Given the description of an element on the screen output the (x, y) to click on. 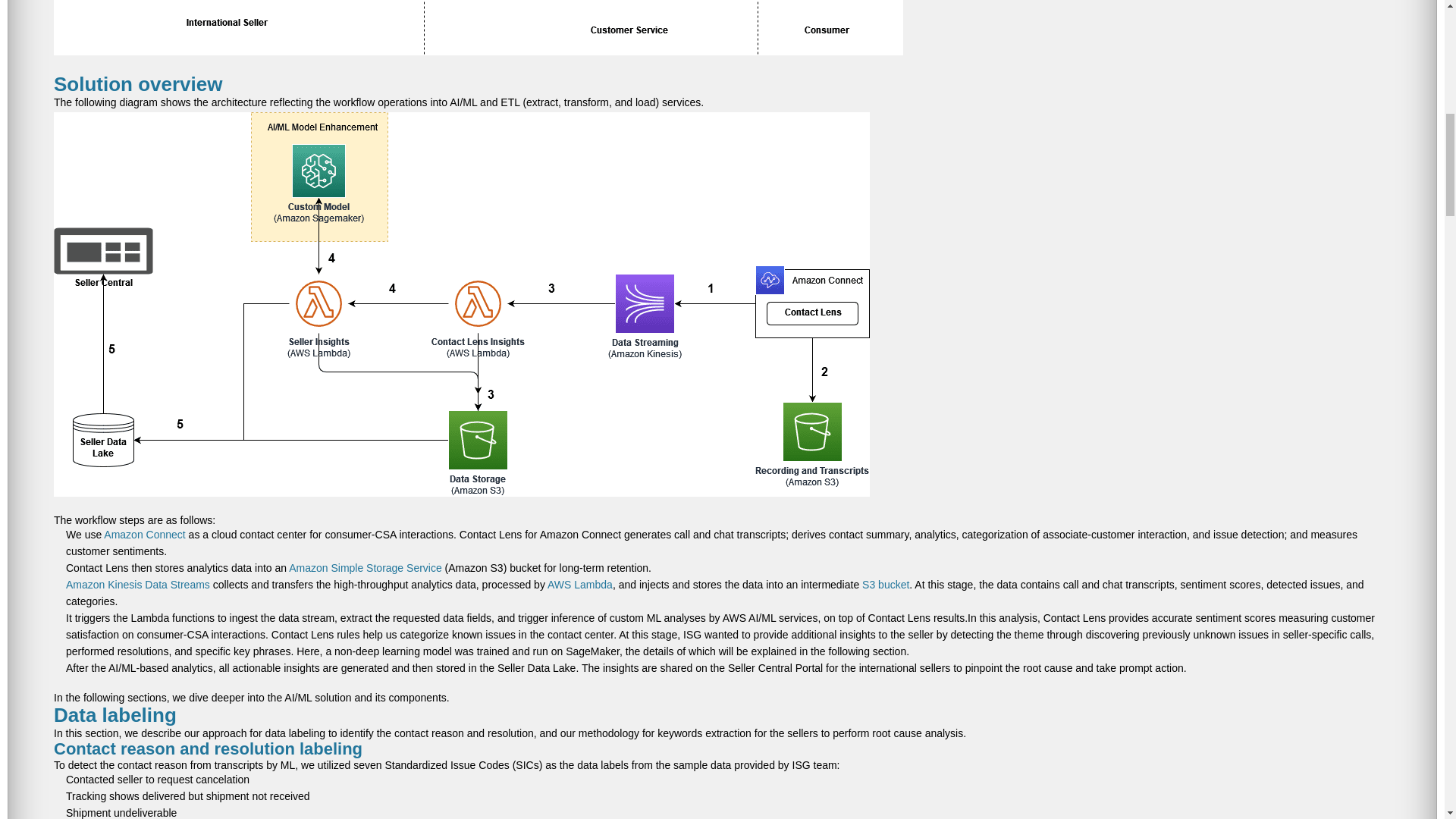
Amazon Kinesis Data Streams (137, 584)
Amazon Connect (143, 534)
AWS Lambda (579, 584)
S3 bucket (884, 584)
Amazon Simple Storage Service (365, 567)
